Given the description of an element on the screen output the (x, y) to click on. 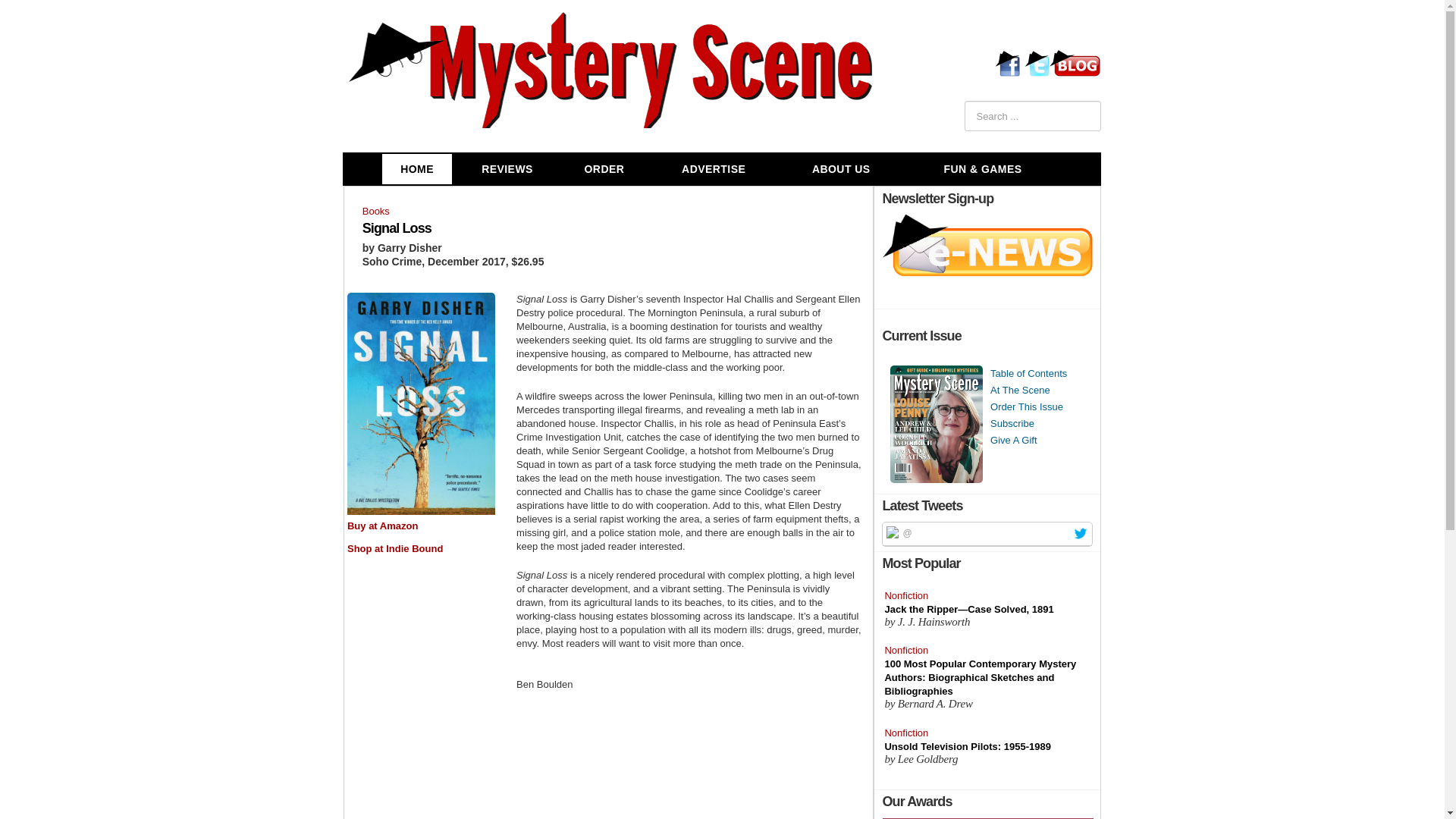
dishersignalloss (421, 402)
ORDER (603, 168)
REVIEWS (507, 168)
ABOUT US (841, 168)
Signal Loss (396, 227)
ADVERTISE (712, 168)
Buy at Amazon (382, 525)
Shop at Indie Bound (394, 548)
HOME (416, 168)
